Given the description of an element on the screen output the (x, y) to click on. 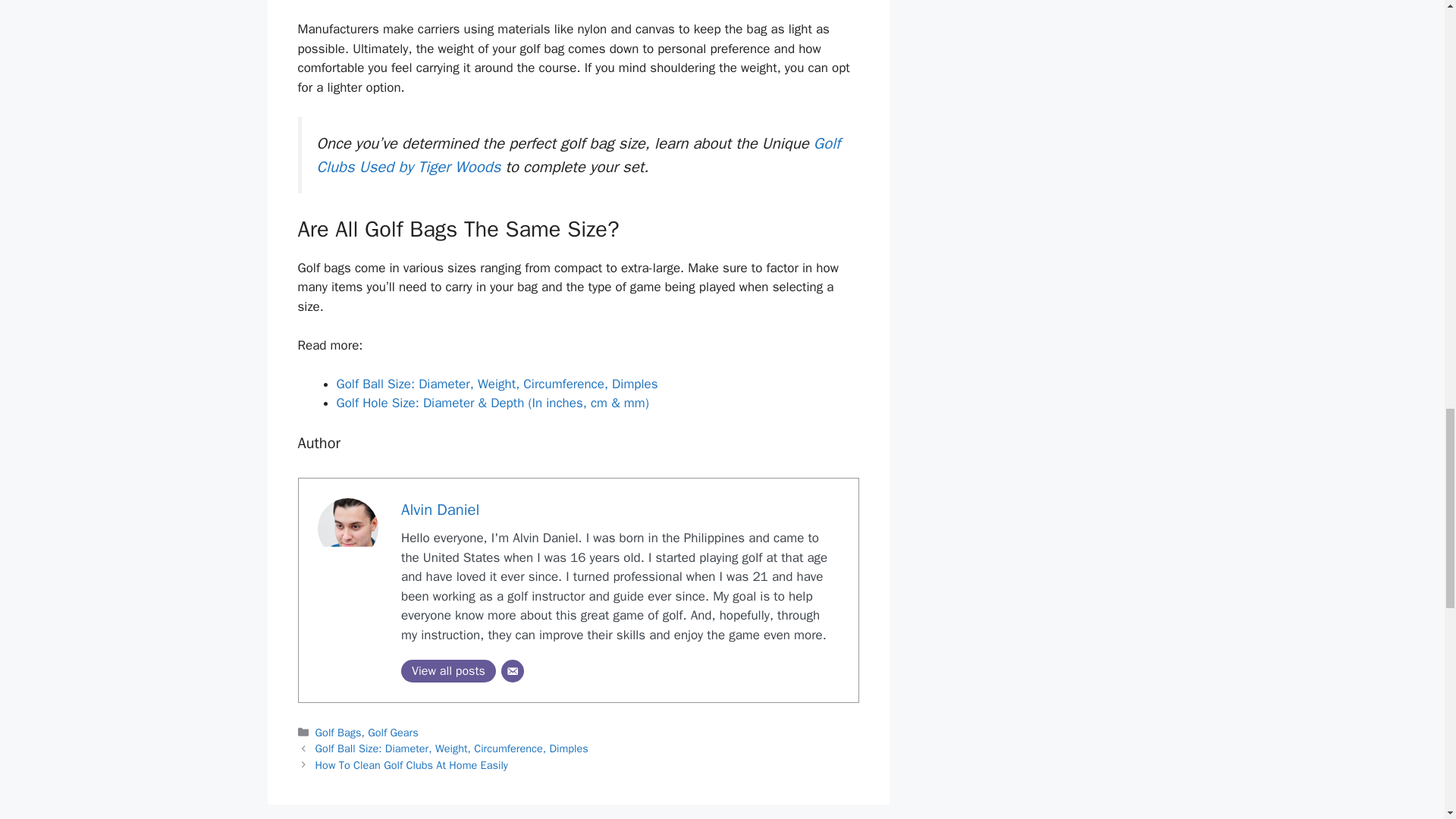
View all posts (448, 671)
Golf Ball Size: Diameter, Weight, Circumference, Dimples (497, 383)
How To Clean Golf Clubs At Home Easily (411, 765)
Golf Bags (338, 732)
Golf Clubs Used by Tiger Woods (579, 154)
Alvin Daniel (440, 509)
Alvin Daniel (440, 509)
View all posts (448, 671)
Golf Ball Size: Diameter, Weight, Circumference, Dimples (451, 748)
Golf Gears (393, 732)
